Given the description of an element on the screen output the (x, y) to click on. 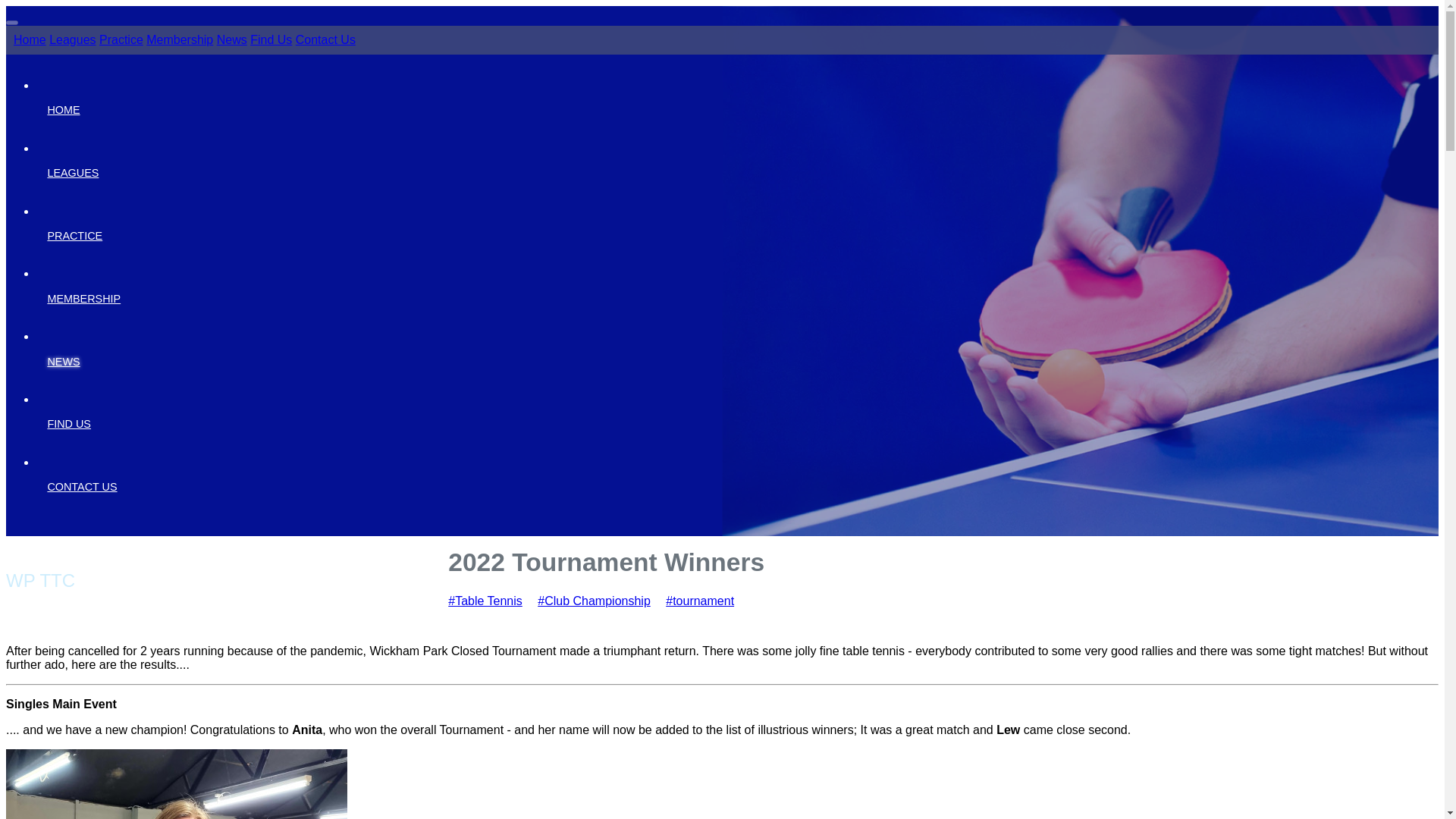
Contact Us (325, 39)
Practice (120, 39)
Find Us (271, 39)
Membership (179, 39)
Leagues (72, 39)
Home (29, 39)
News (231, 39)
